Given the description of an element on the screen output the (x, y) to click on. 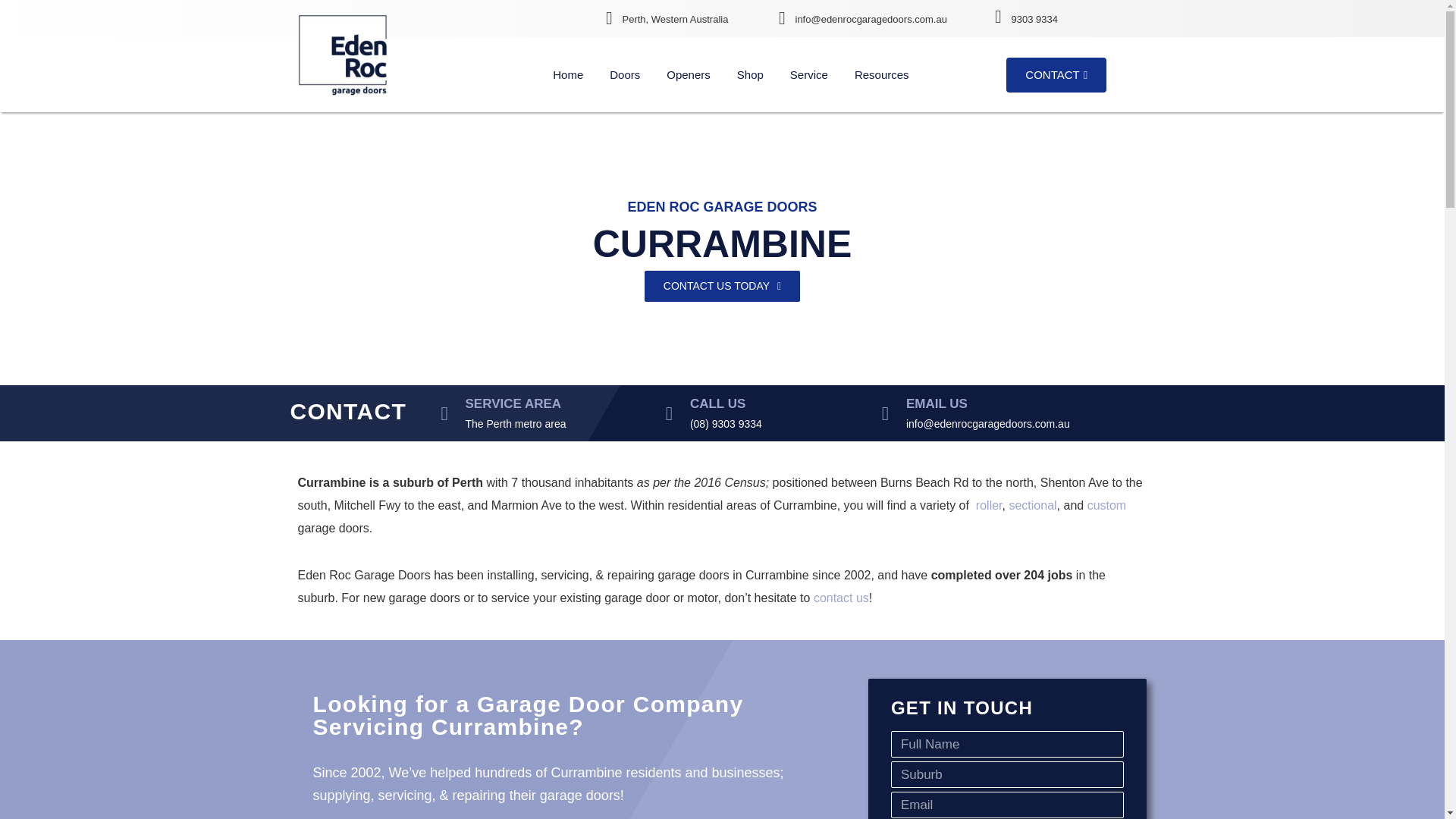
Home (567, 74)
Openers (688, 74)
Shop (750, 74)
9303 9334 (1034, 19)
Resources (881, 74)
Doors (624, 74)
Service (808, 74)
